Given the description of an element on the screen output the (x, y) to click on. 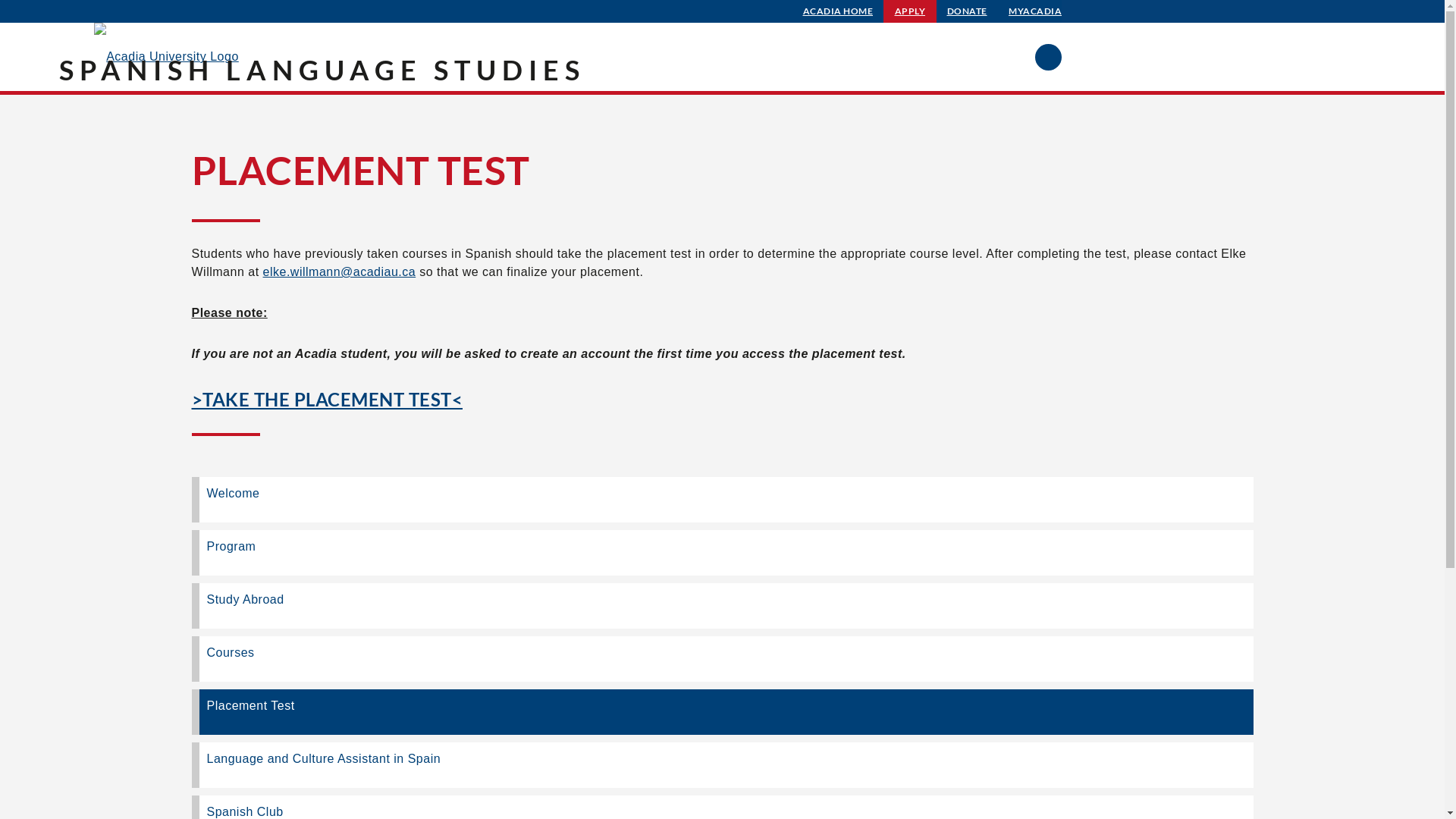
Welcome Element type: text (721, 499)
APPLY Element type: text (909, 11)
DONATE Element type: text (966, 11)
elke.willmann@acadiau.ca Element type: text (339, 271)
ACADIA HOME Element type: text (837, 11)
SPANISH LANGUAGE STUDIES Element type: text (322, 69)
Language and Culture Assistant in Spain Element type: text (721, 764)
MYACADIA Element type: text (1035, 11)
Courses Element type: text (721, 658)
Study Abroad Element type: text (721, 605)
>TAKE THE PLACEMENT TEST< Element type: text (326, 399)
Program Element type: text (721, 552)
